Given the description of an element on the screen output the (x, y) to click on. 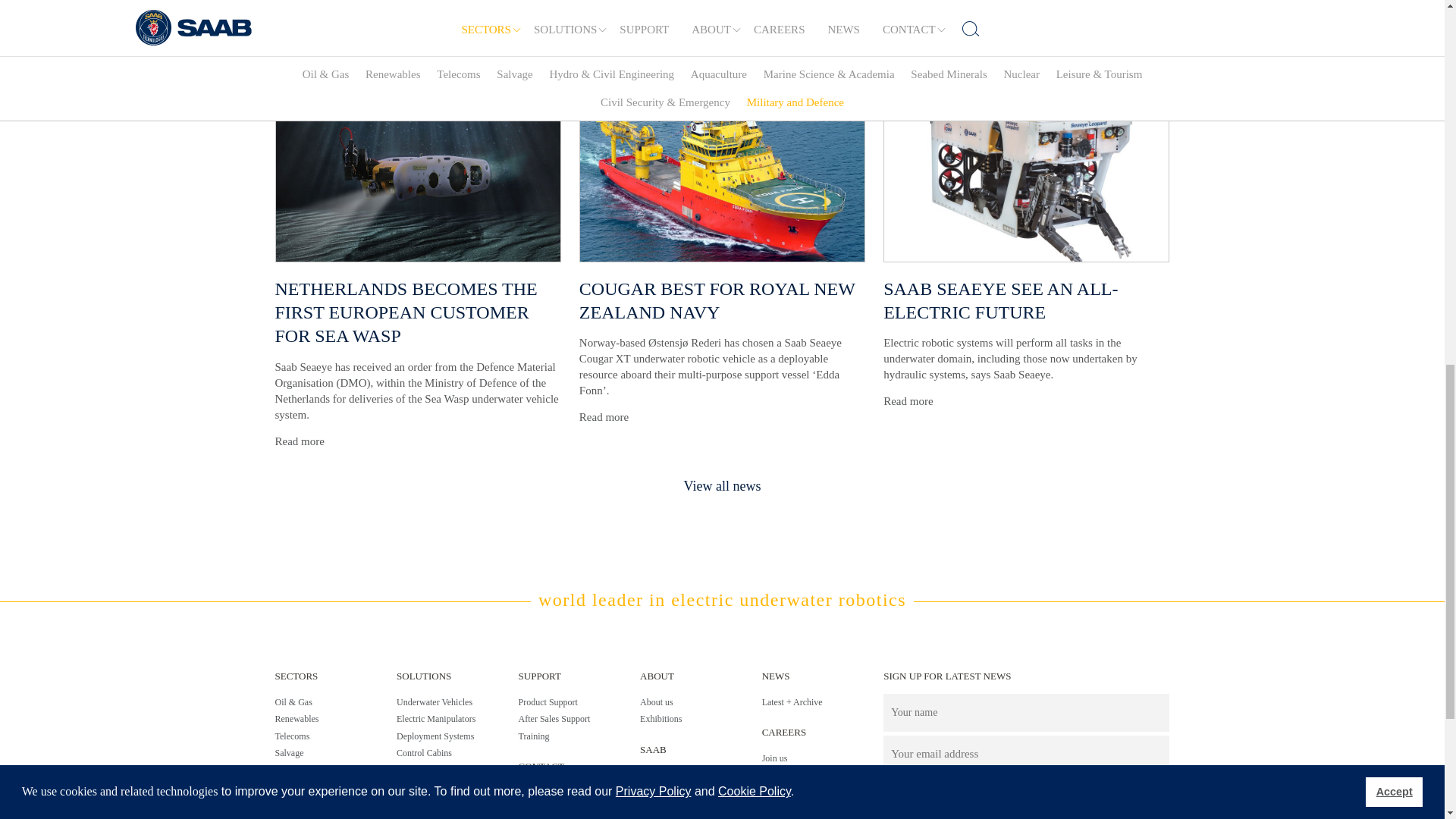
Submit (898, 796)
